Given the description of an element on the screen output the (x, y) to click on. 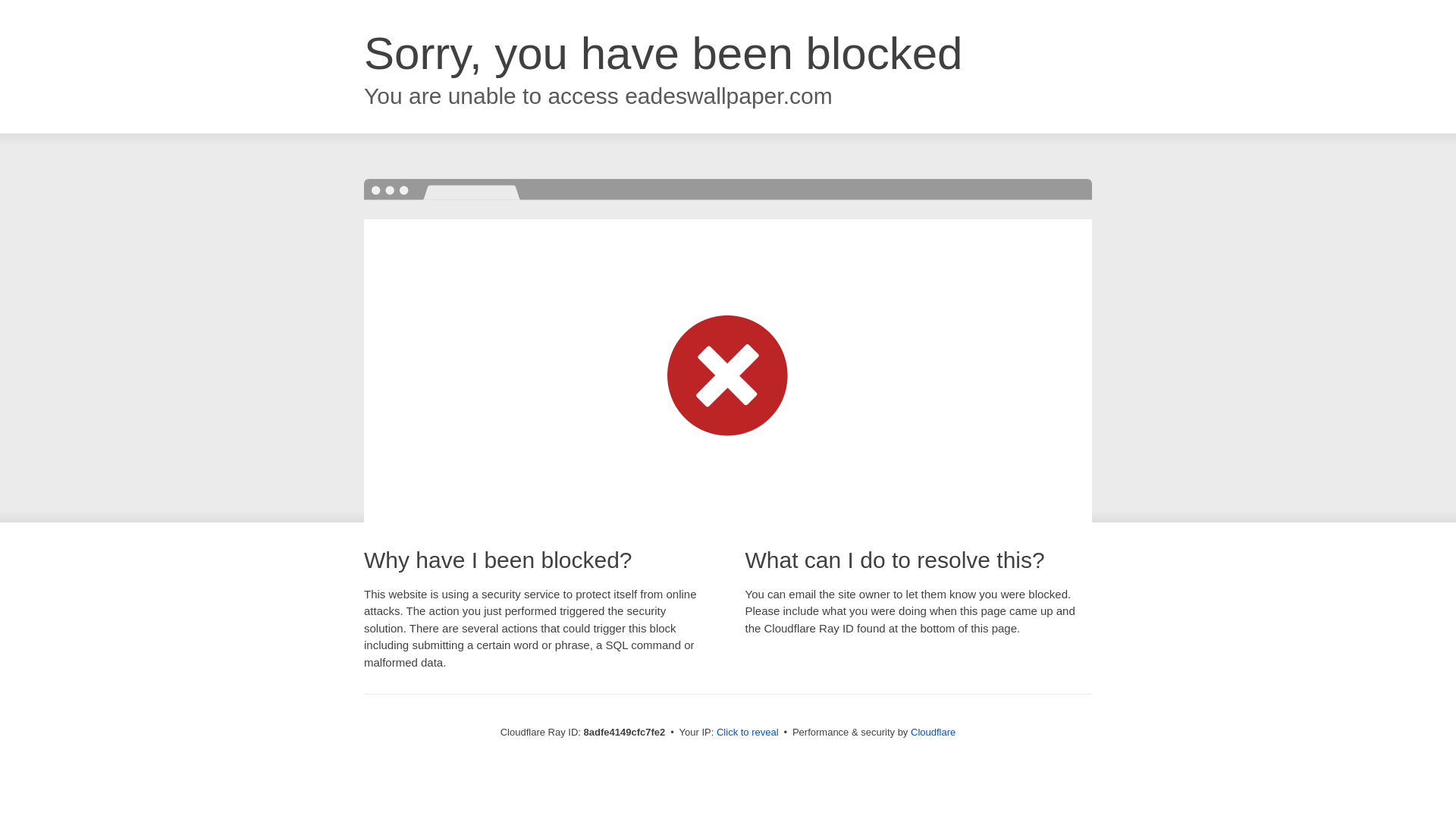
Cloudflare (933, 731)
Click to reveal (747, 732)
